Given the description of an element on the screen output the (x, y) to click on. 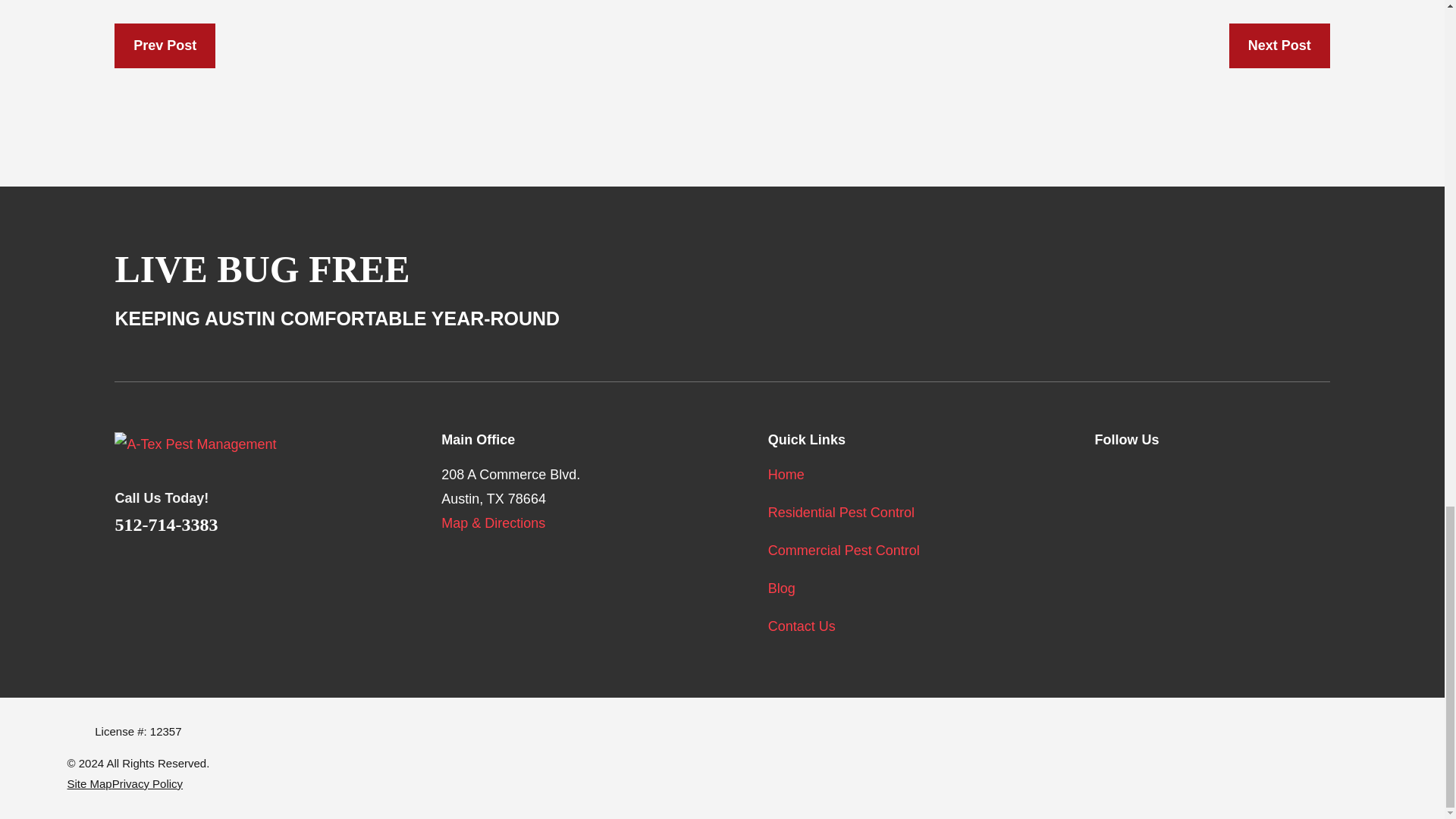
Facebook (1103, 471)
Home (232, 444)
Twitter (1143, 471)
Instagram (1182, 471)
Google Business Profile (1221, 471)
